Given the description of an element on the screen output the (x, y) to click on. 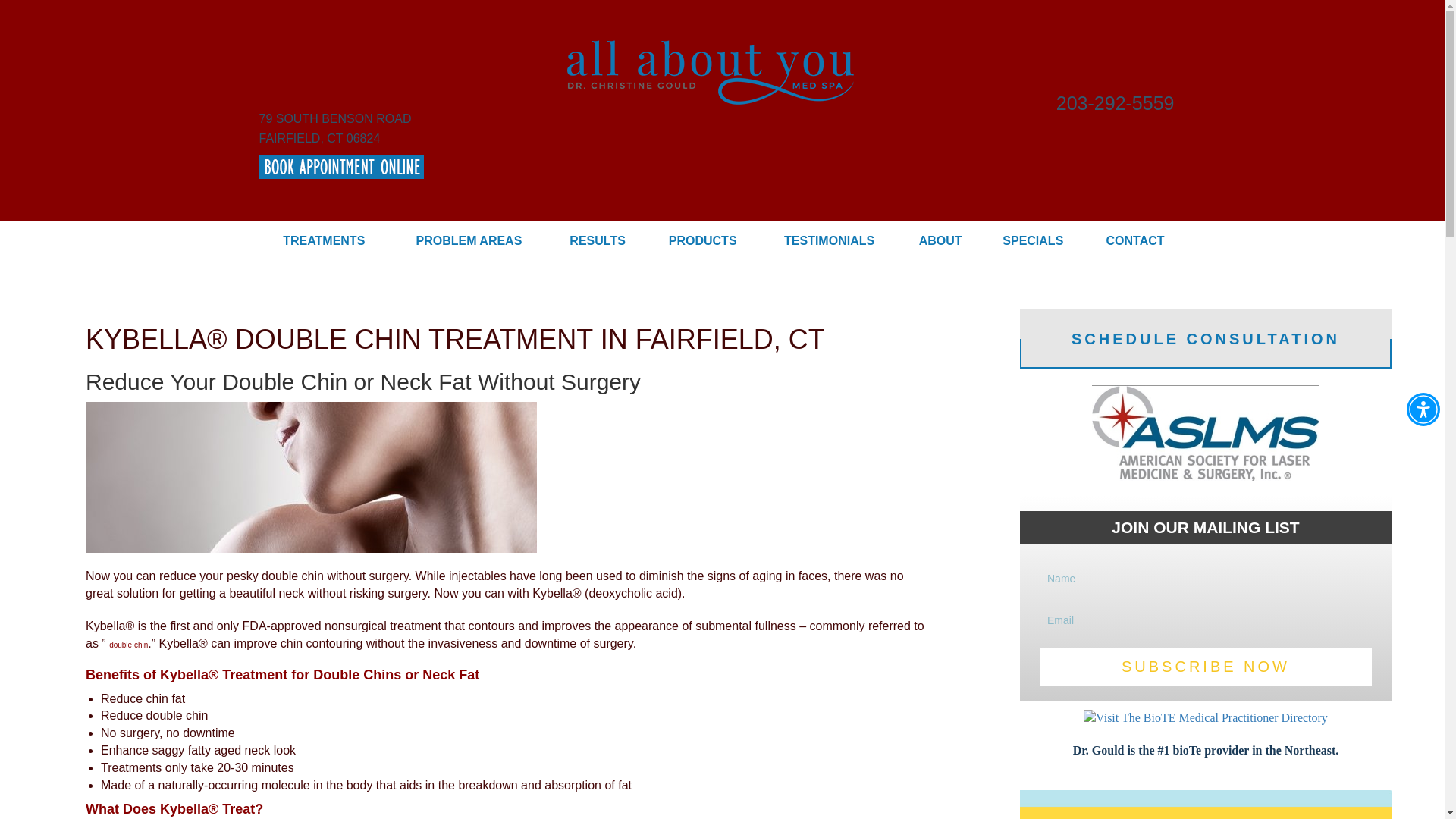
203-292-5559 (1115, 104)
TREATMENTS (323, 240)
Accessibility Menu (335, 128)
Subscribe Now (1422, 409)
Visit The BioTE Medical Practitioner Directory (1205, 666)
